Given the description of an element on the screen output the (x, y) to click on. 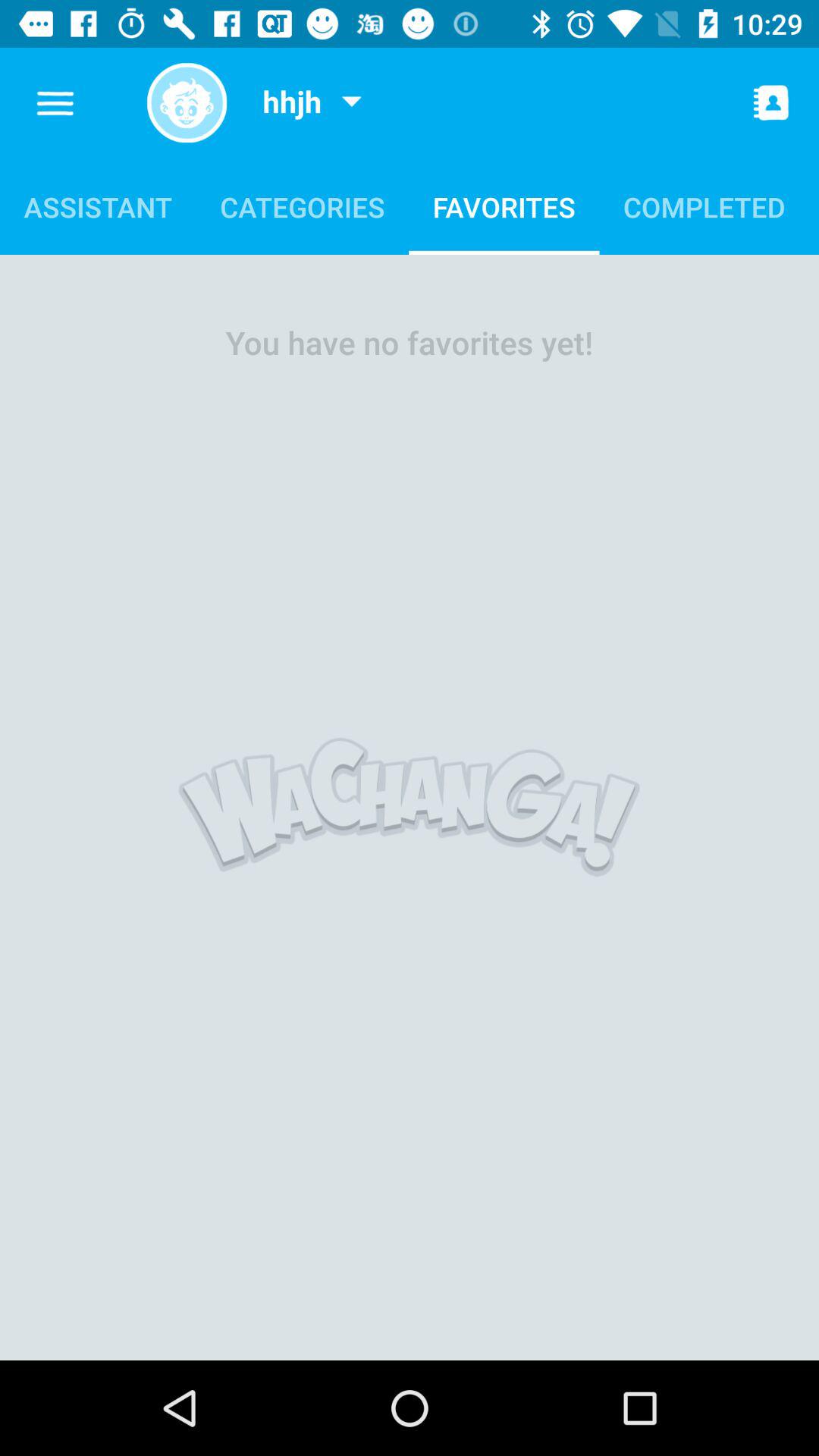
drop down (351, 102)
